Given the description of an element on the screen output the (x, y) to click on. 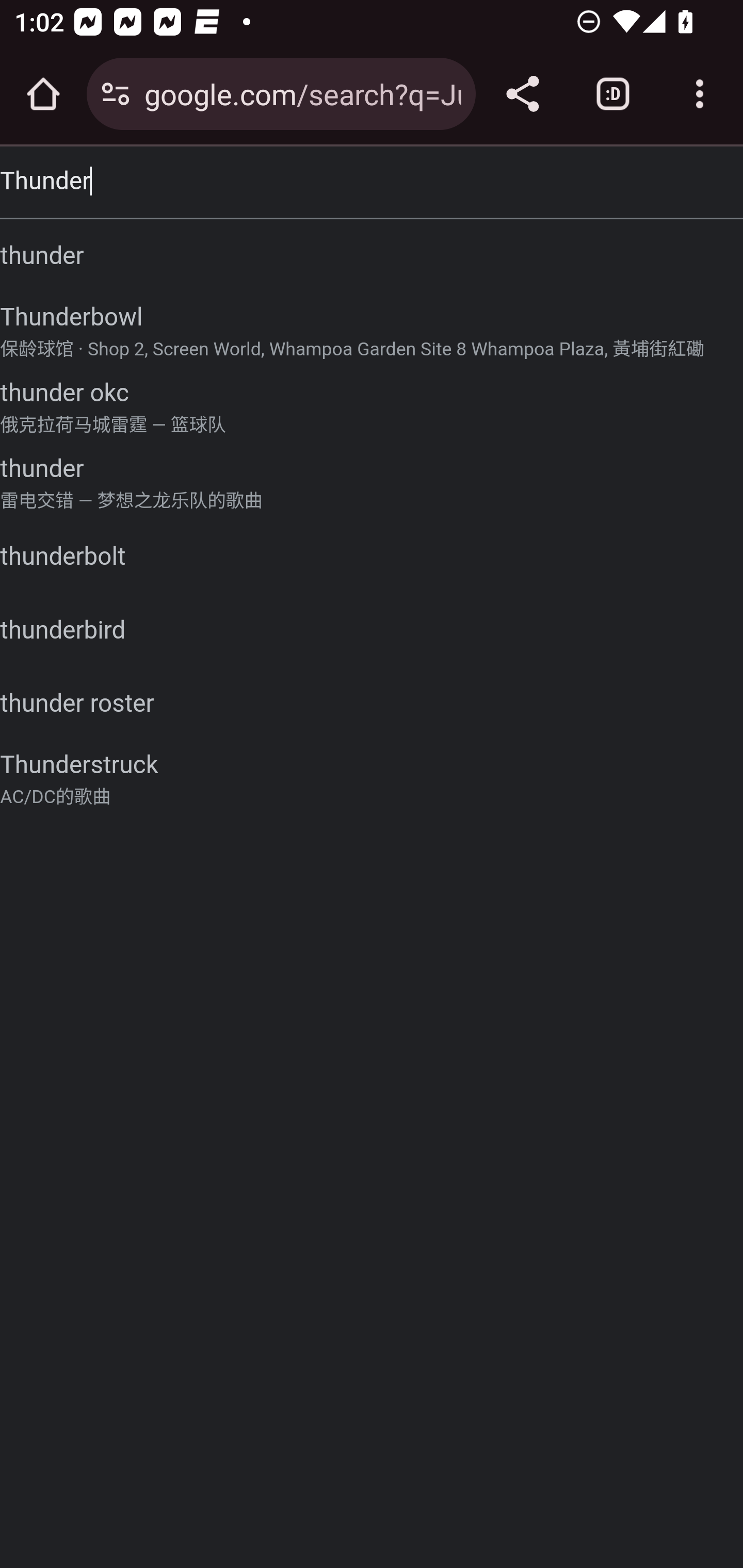
Open the home page (43, 93)
Connection is secure (115, 93)
Share (522, 93)
Switch or close tabs (612, 93)
Customize and control Google Chrome (699, 93)
Thunder (371, 181)
